Given the description of an element on the screen output the (x, y) to click on. 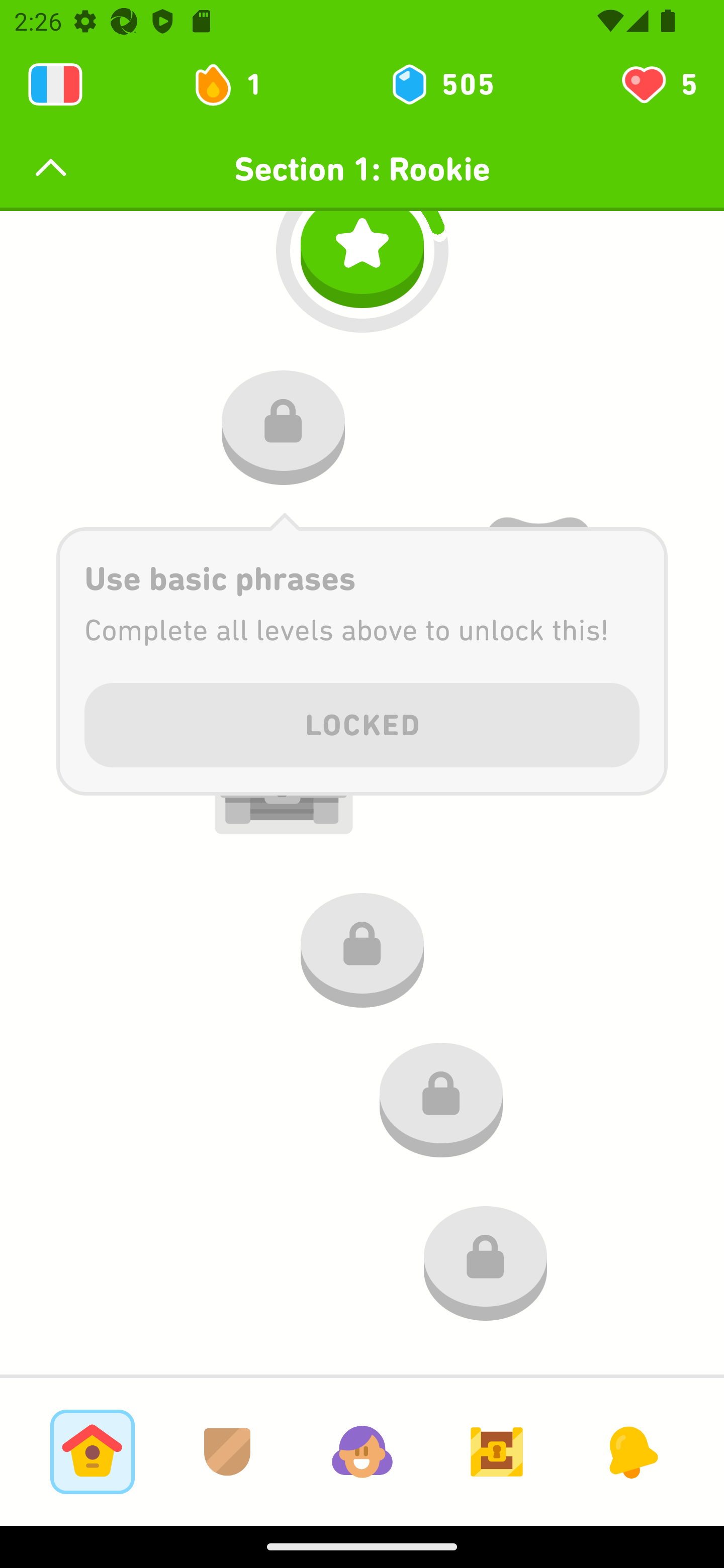
Learning 2131888976 (55, 84)
1 day streak 1 (236, 84)
505 (441, 84)
You have 5 hearts left 5 (657, 84)
Section 1: Rookie (362, 169)
LOCKED (361, 720)
Learn Tab (91, 1451)
Leagues Tab (227, 1451)
Profile Tab (361, 1451)
Goals Tab (496, 1451)
News Tab (631, 1451)
